Given the description of an element on the screen output the (x, y) to click on. 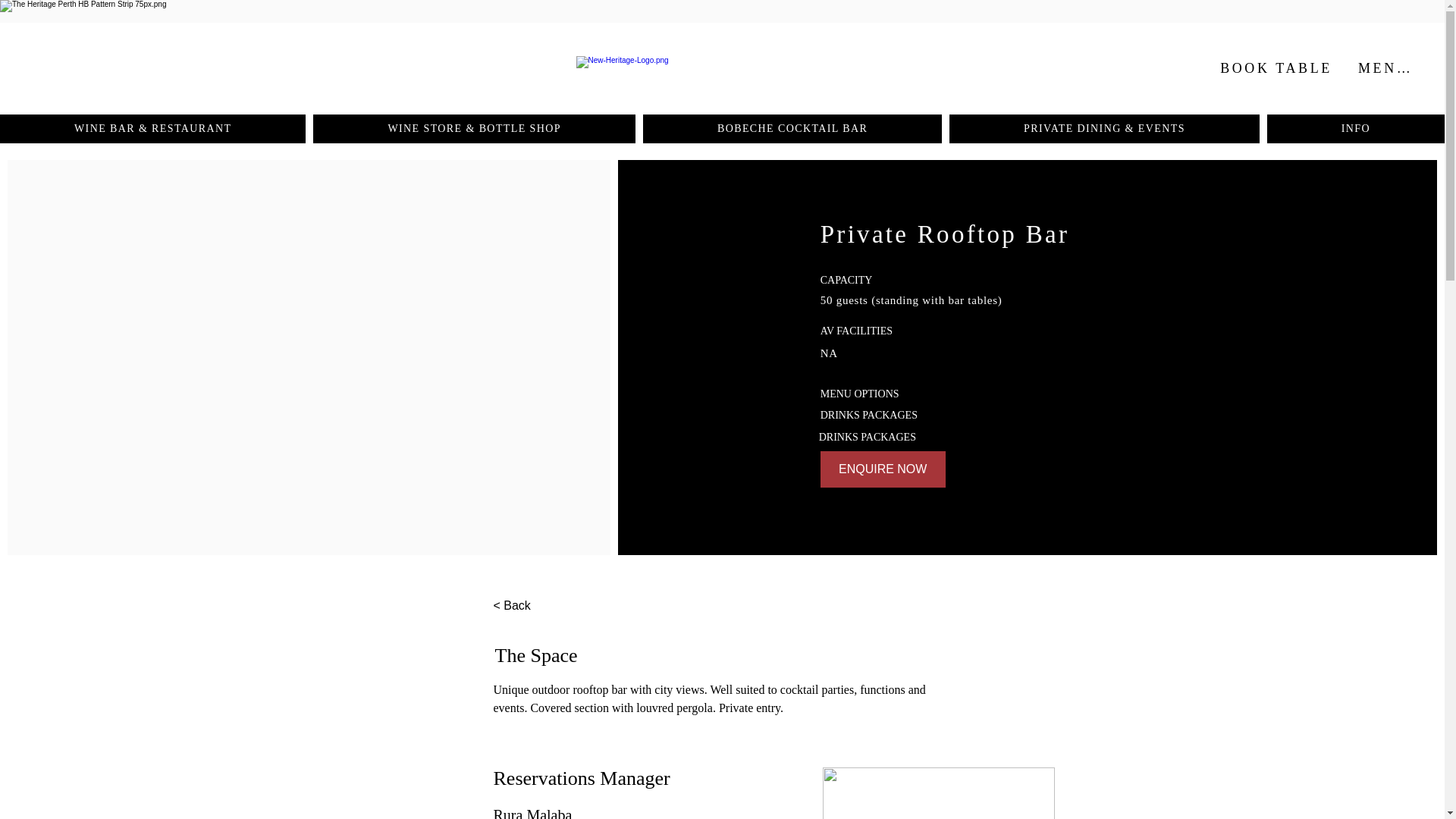
MENUS (1386, 68)
BOBECHE COCKTAIL BAR (792, 128)
ENQUIRE NOW (882, 469)
BOOK TABLE (1278, 68)
